Given the description of an element on the screen output the (x, y) to click on. 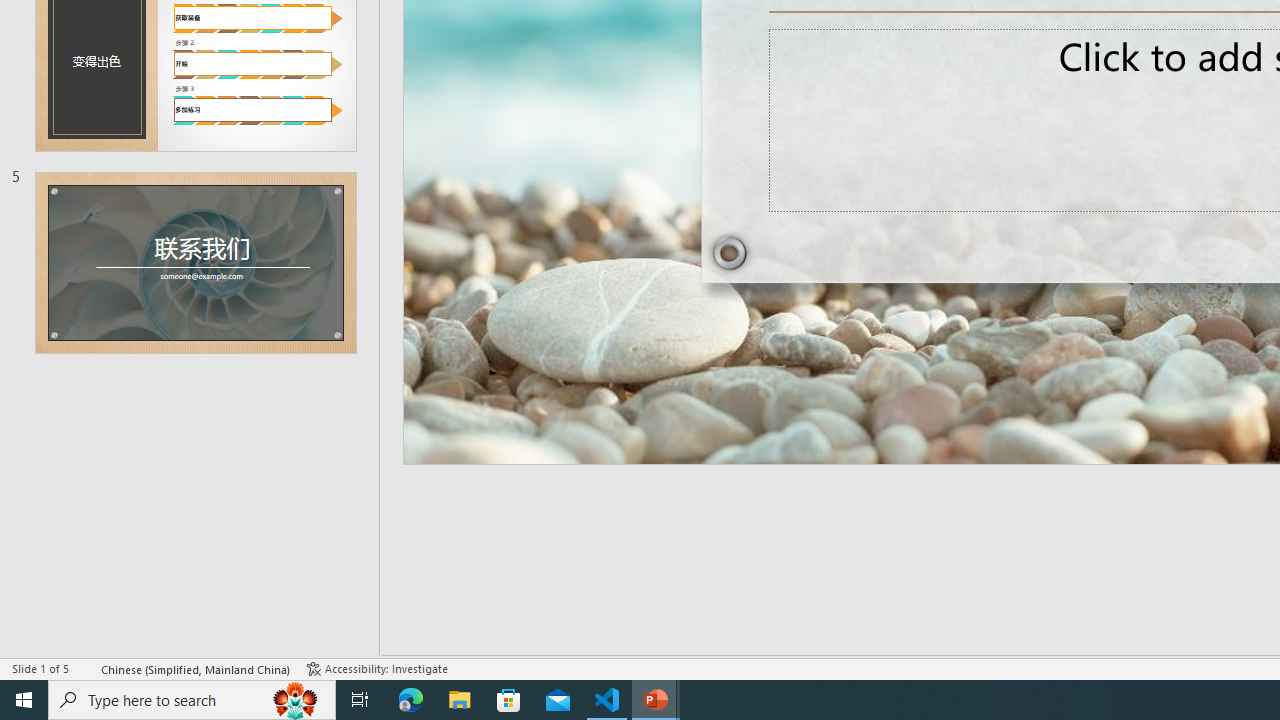
Spell Check  (86, 668)
Accessibility Checker Accessibility: Investigate (377, 668)
